Given the description of an element on the screen output the (x, y) to click on. 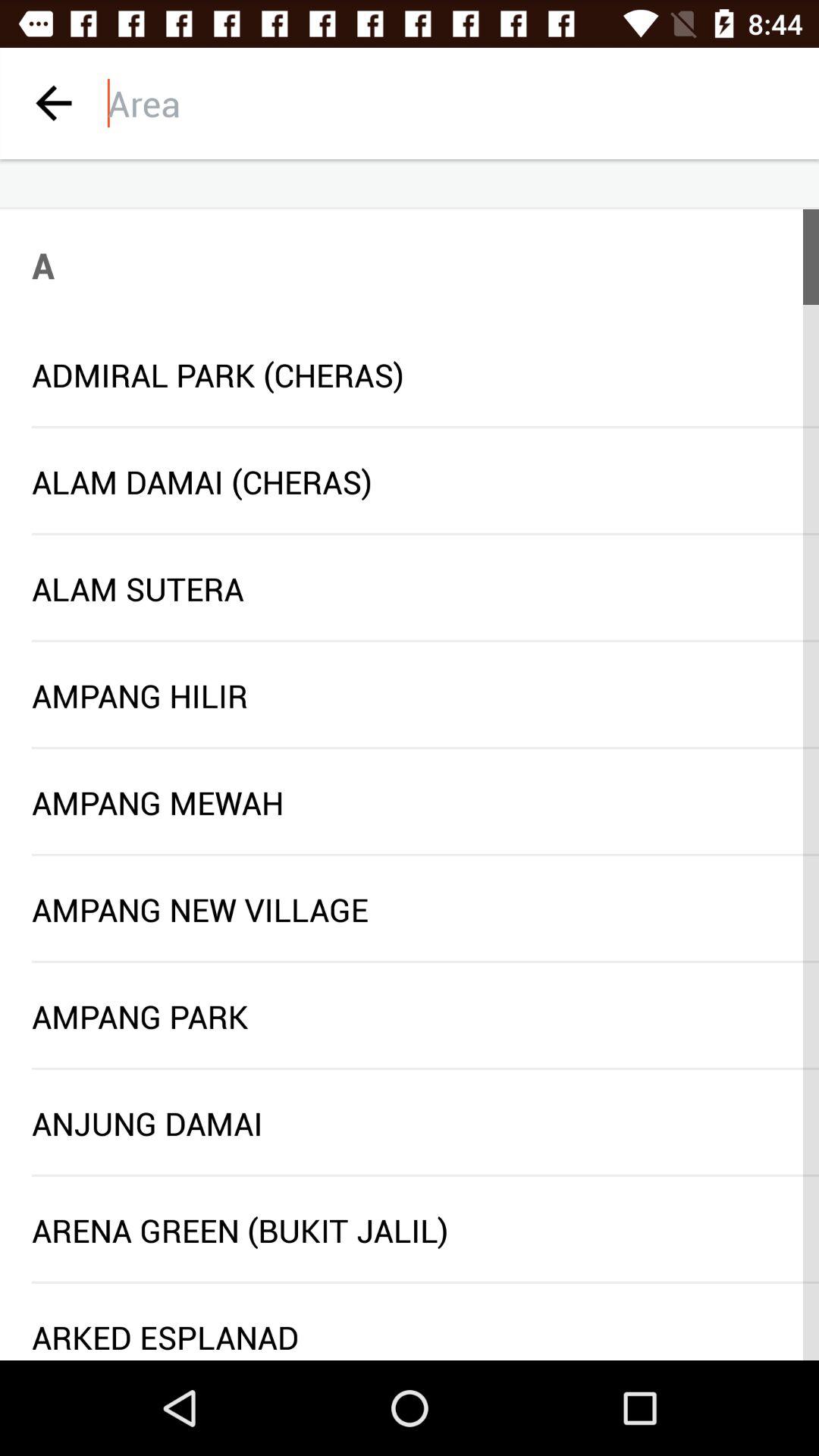
press the item below the alam sutera (425, 640)
